Given the description of an element on the screen output the (x, y) to click on. 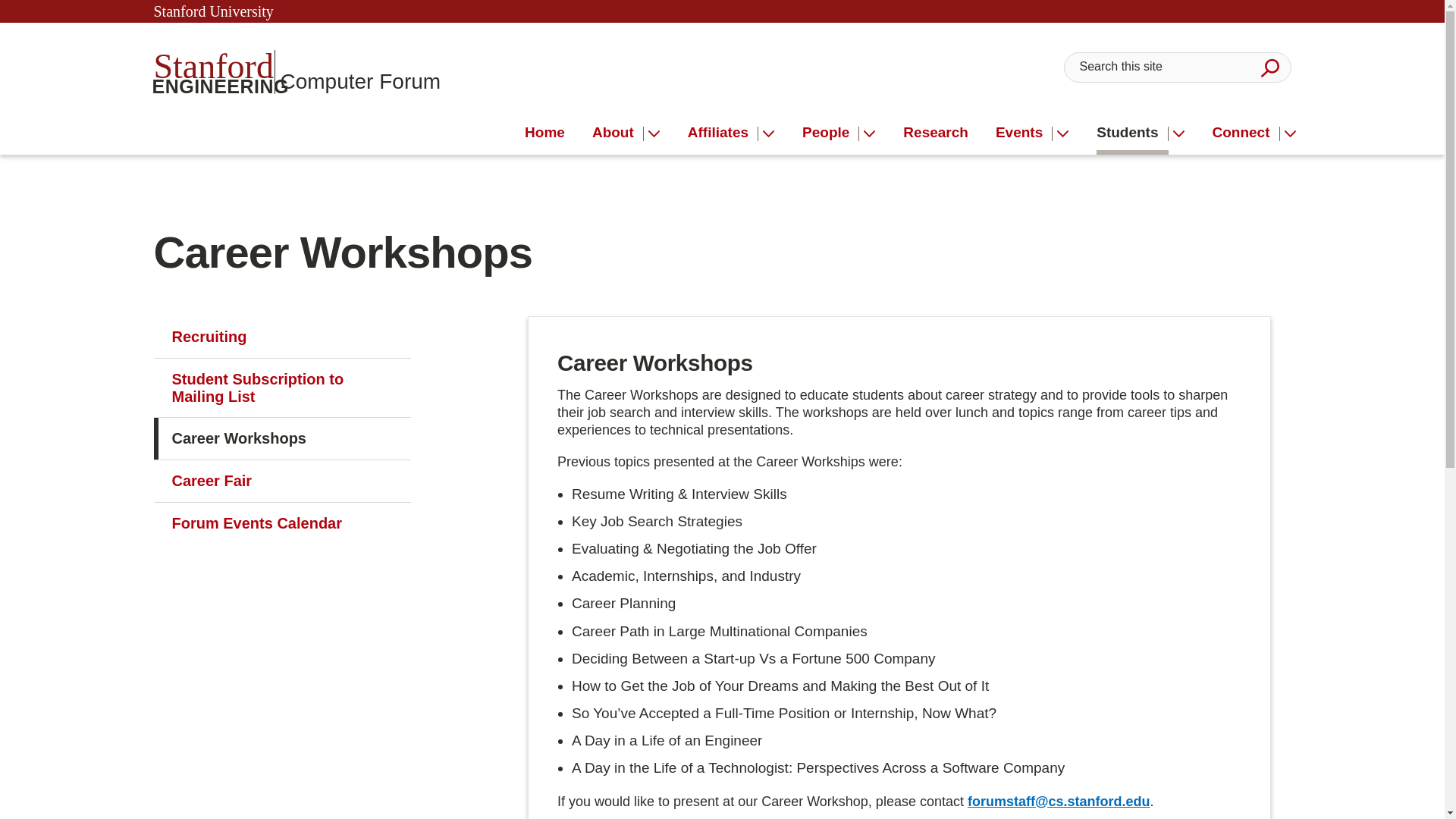
Home (544, 132)
Affiliates (722, 132)
Research (935, 132)
Recruiting (281, 336)
Submit Search (296, 71)
Events (1269, 67)
Careers (1023, 132)
About (1131, 132)
People (617, 132)
